Given the description of an element on the screen output the (x, y) to click on. 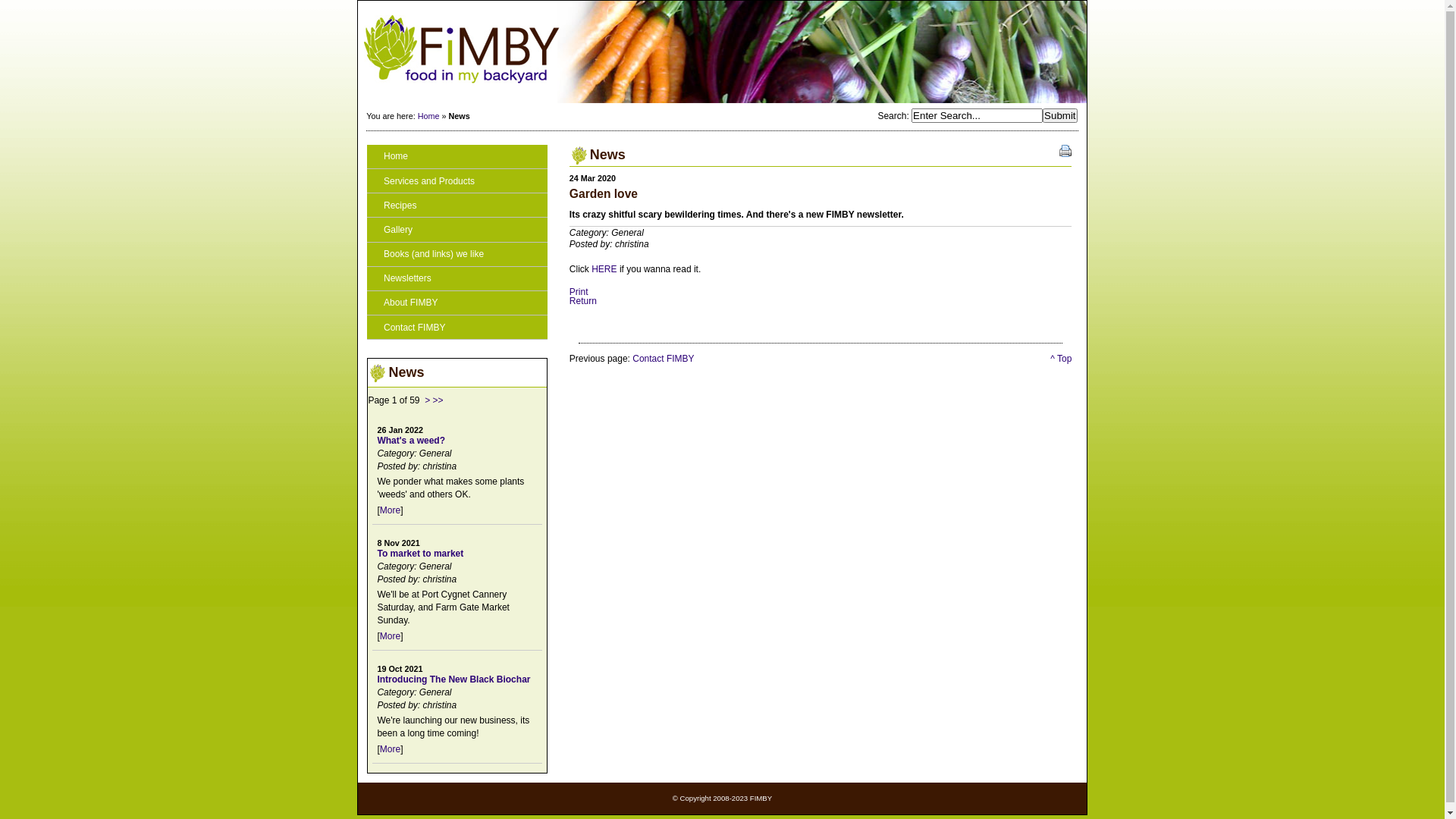
Newsletters Element type: text (457, 278)
Home Element type: text (457, 156)
More Element type: text (389, 748)
Books (and links) we like Element type: text (457, 254)
Recipes Element type: text (457, 204)
Services and Products Element type: text (457, 180)
To market to market Element type: text (419, 553)
More Element type: text (389, 635)
Home Element type: text (428, 115)
HERE Element type: text (603, 268)
Contact FIMBY Element type: text (662, 358)
Contact FIMBY Element type: text (457, 326)
What's a weed? Element type: text (410, 440)
About FIMBY Element type: text (457, 302)
^ Top Element type: text (1060, 358)
Submit Element type: text (1059, 115)
Print Element type: text (578, 291)
More Element type: text (389, 510)
> Element type: text (426, 400)
FIMBY - food in my back yard Element type: text (458, 51)
>> Element type: text (438, 400)
Return Element type: text (582, 300)
Introducing The New Black Biochar Element type: text (453, 679)
Gallery Element type: text (457, 229)
